Given the description of an element on the screen output the (x, y) to click on. 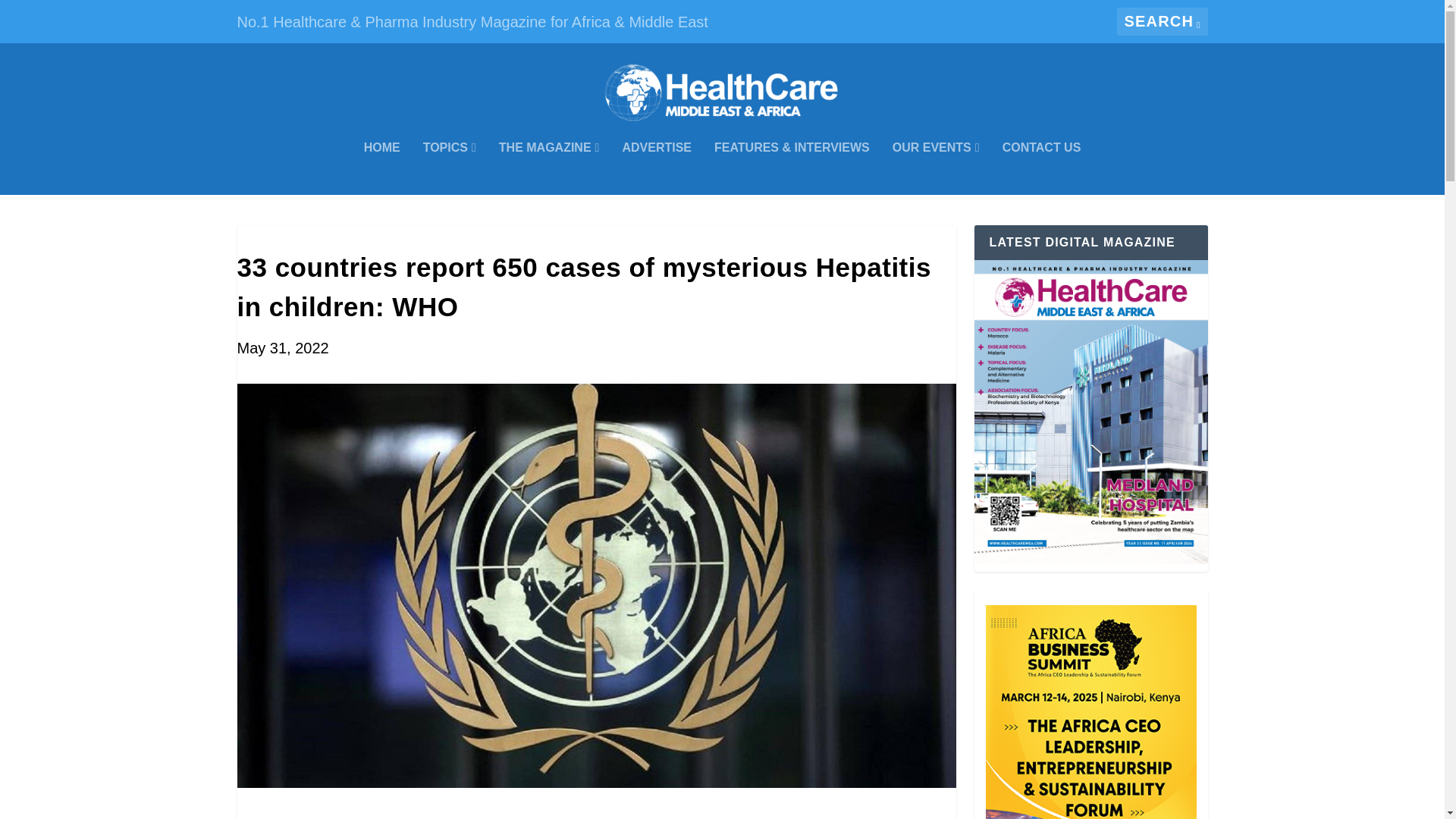
CONTACT US (1042, 167)
TOPICS (449, 167)
Search for: (1161, 21)
ADVERTISE (656, 167)
OUR EVENTS (935, 167)
OUR EVENTS (935, 167)
THE MAGAZINE (549, 167)
